Given the description of an element on the screen output the (x, y) to click on. 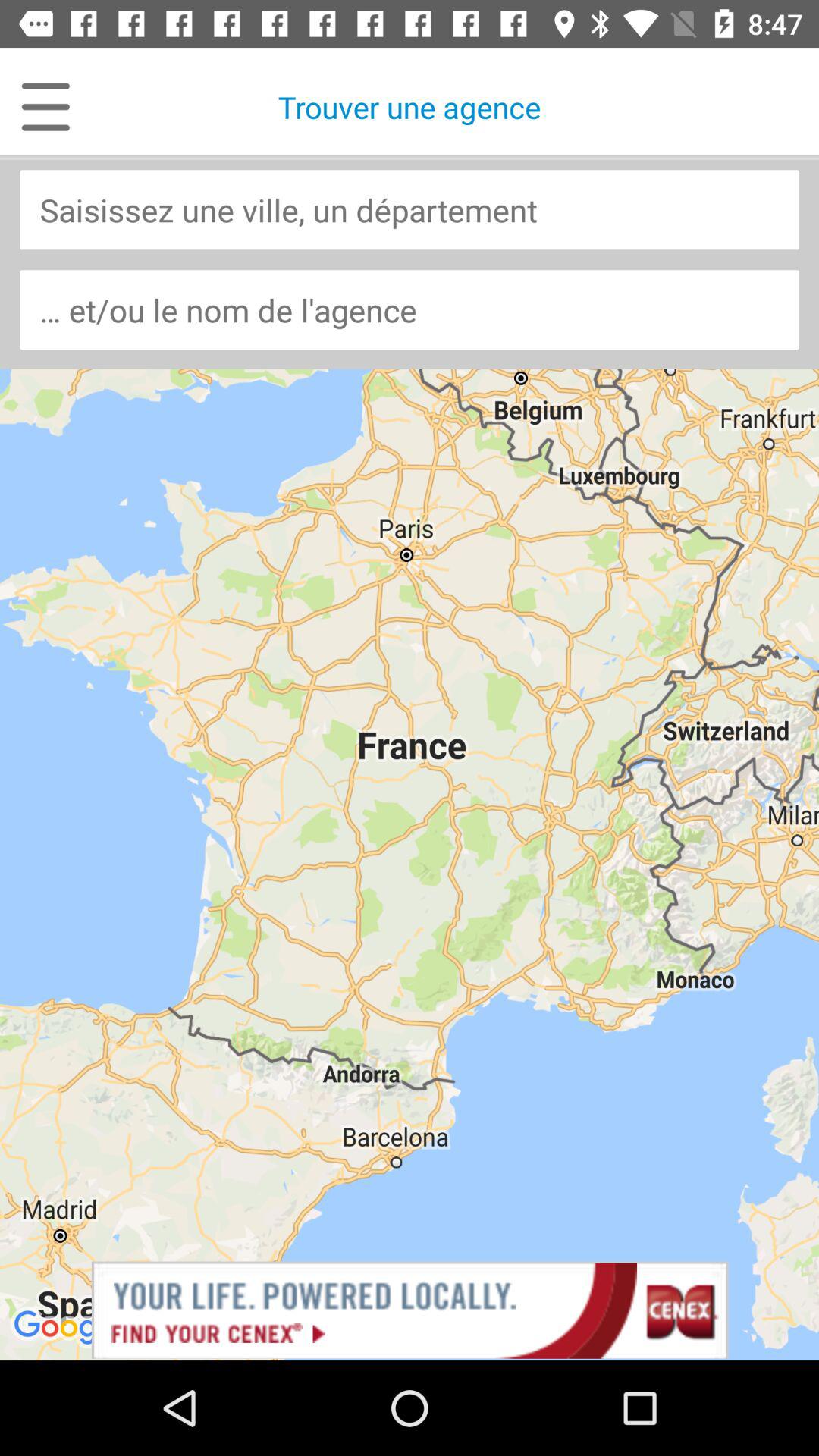
location (409, 209)
